Given the description of an element on the screen output the (x, y) to click on. 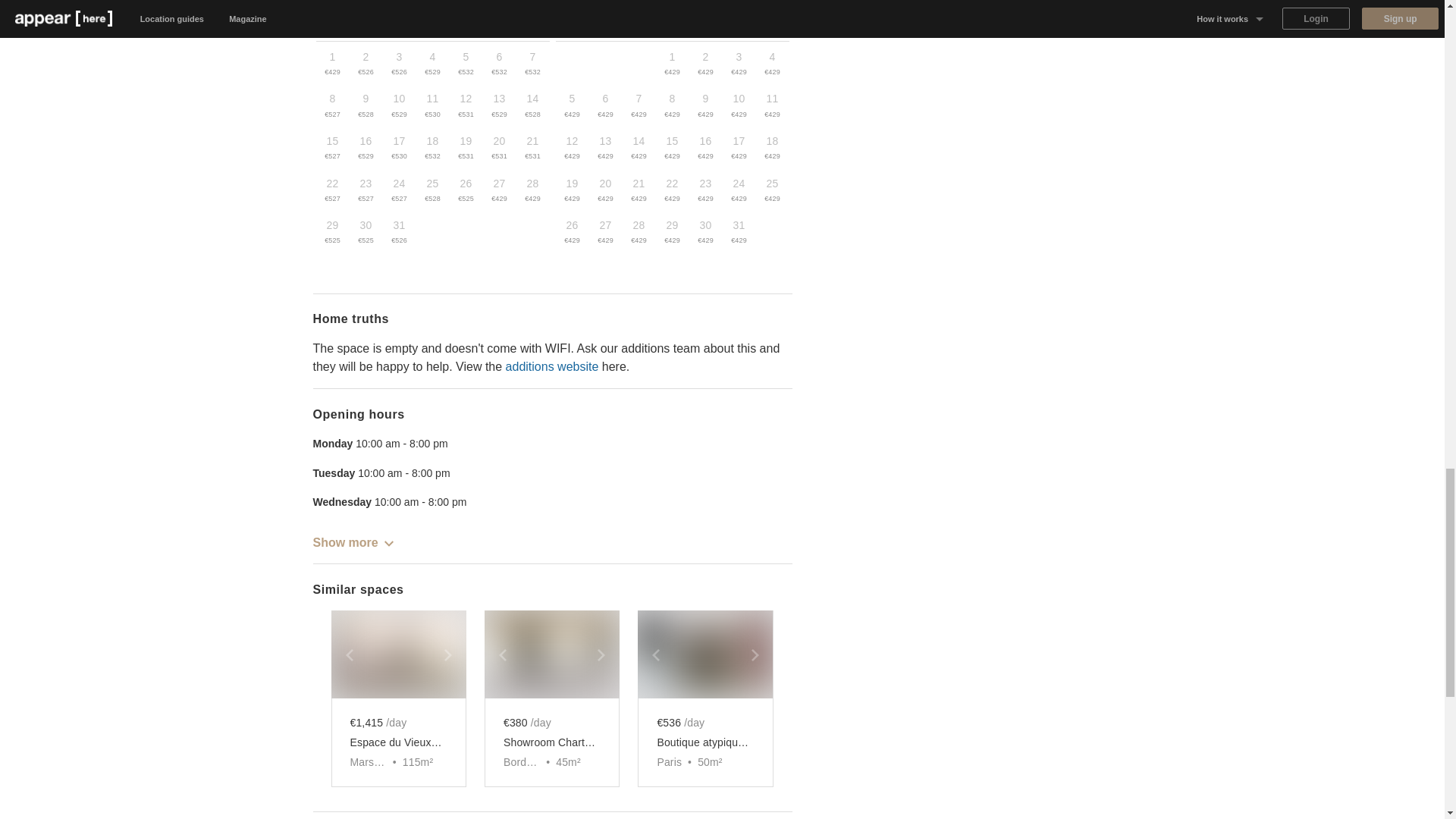
Chevron-up (771, 2)
Chevron-up (388, 542)
Chevron-up (332, 2)
